Given the description of an element on the screen output the (x, y) to click on. 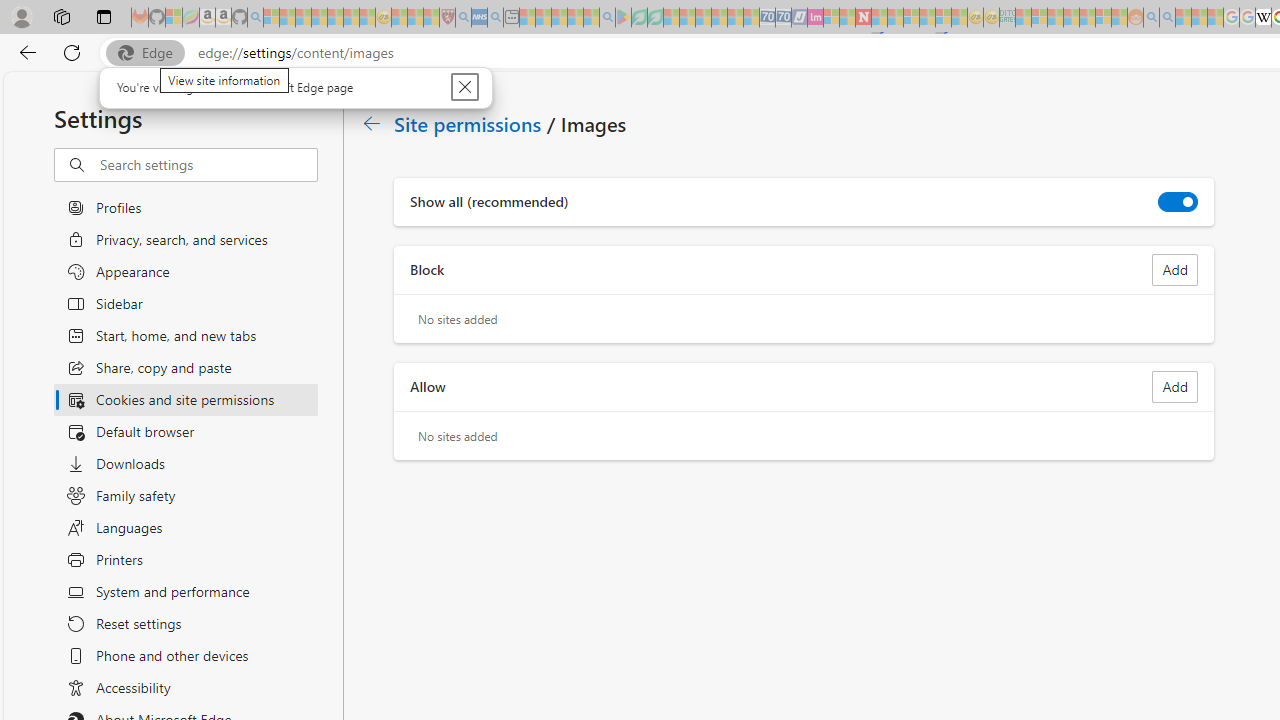
Search settings (207, 165)
Add site to Block list (1175, 269)
